Given the description of an element on the screen output the (x, y) to click on. 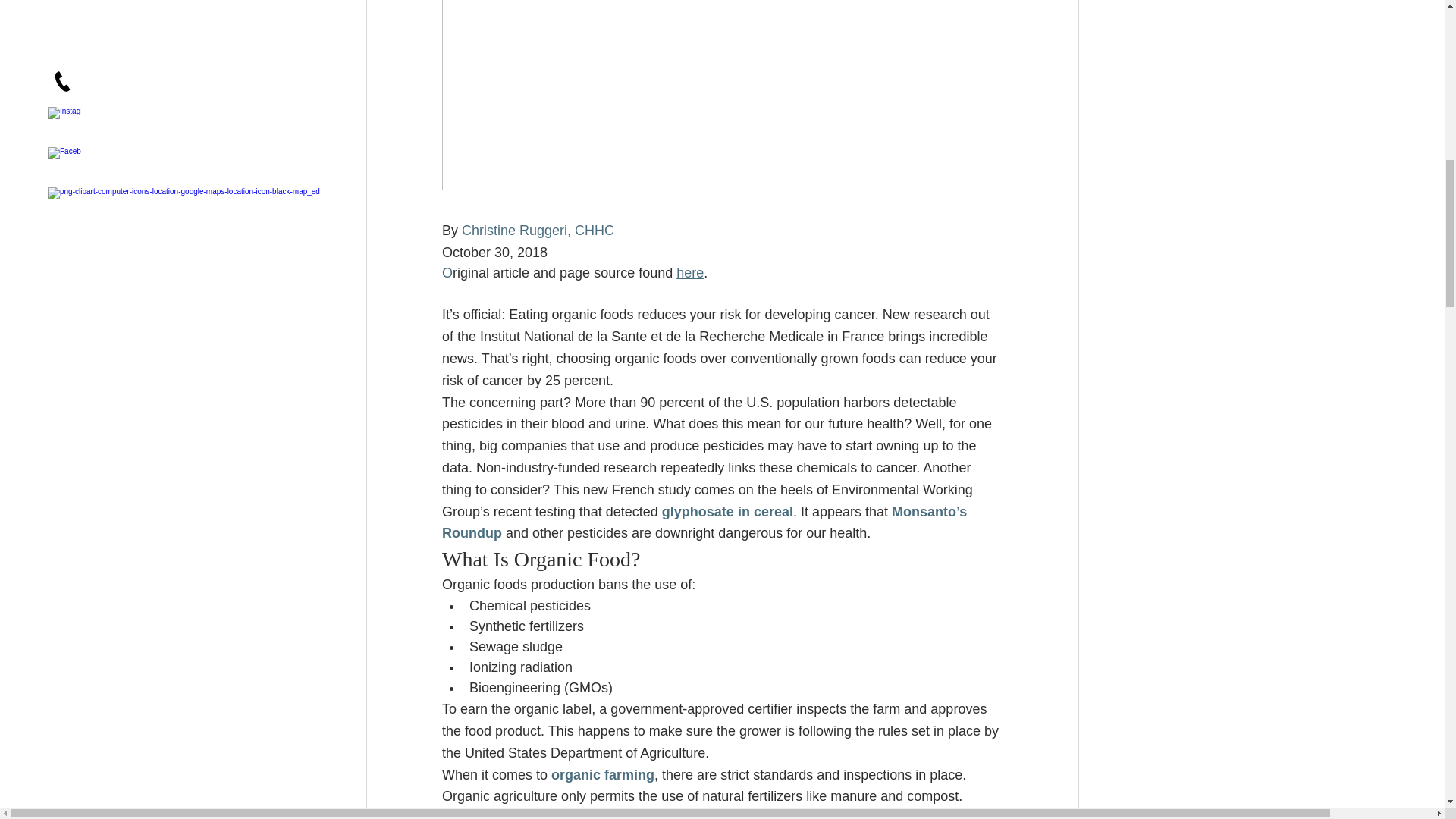
1 (763, 814)
here (690, 272)
glyphosate in cereal (726, 511)
Christine Ruggeri, CHHC (537, 230)
organic farming (602, 774)
